Given the description of an element on the screen output the (x, y) to click on. 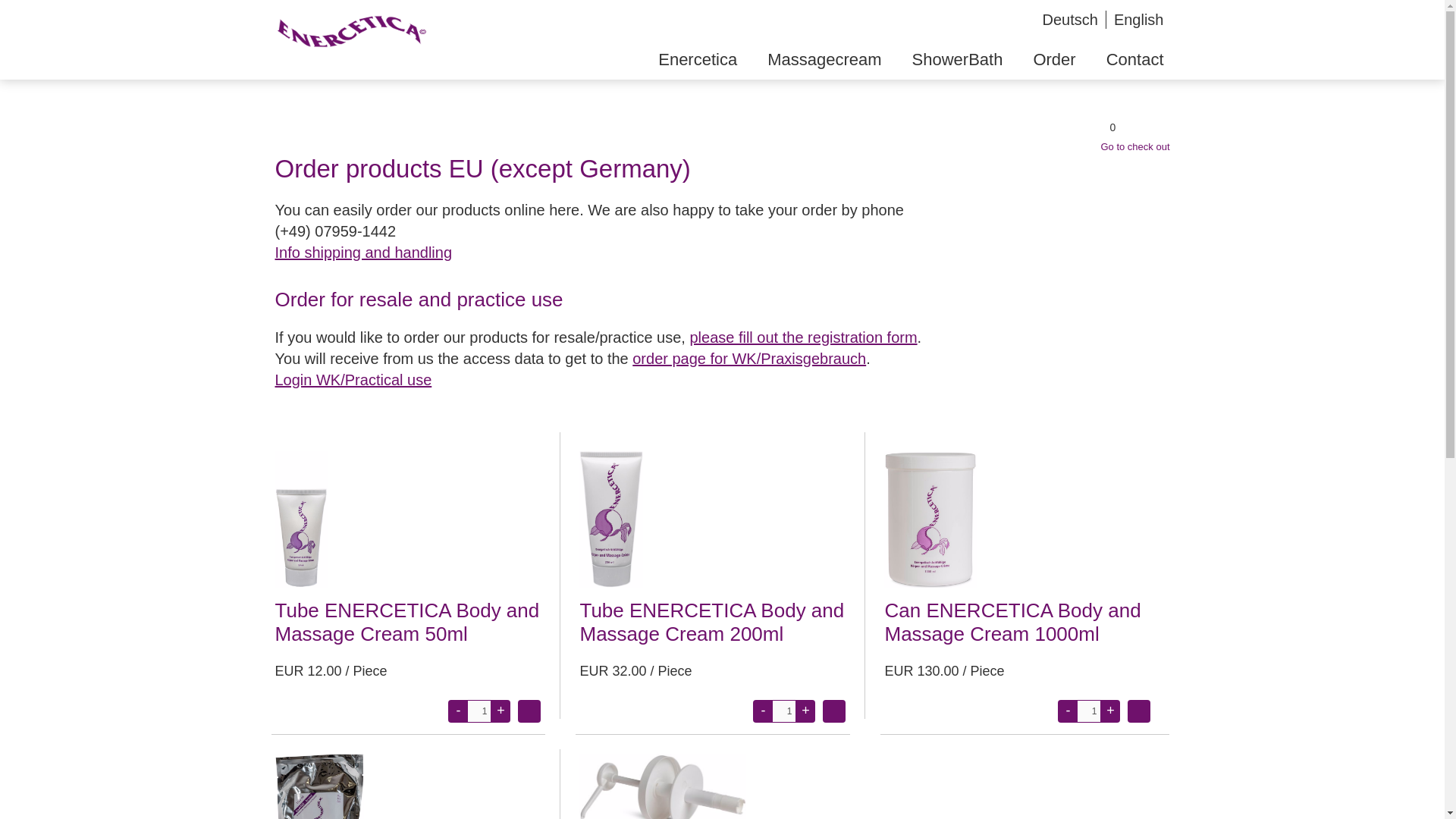
Contact (1134, 59)
Order (1053, 59)
Info shipping and handling (363, 252)
1 (783, 711)
Massagecream (824, 59)
Deutsch (1069, 19)
ShowerBath (956, 59)
Enercetica (697, 59)
English (1138, 19)
1 (1088, 711)
please fill out the registration form (802, 337)
1 (478, 711)
